Given the description of an element on the screen output the (x, y) to click on. 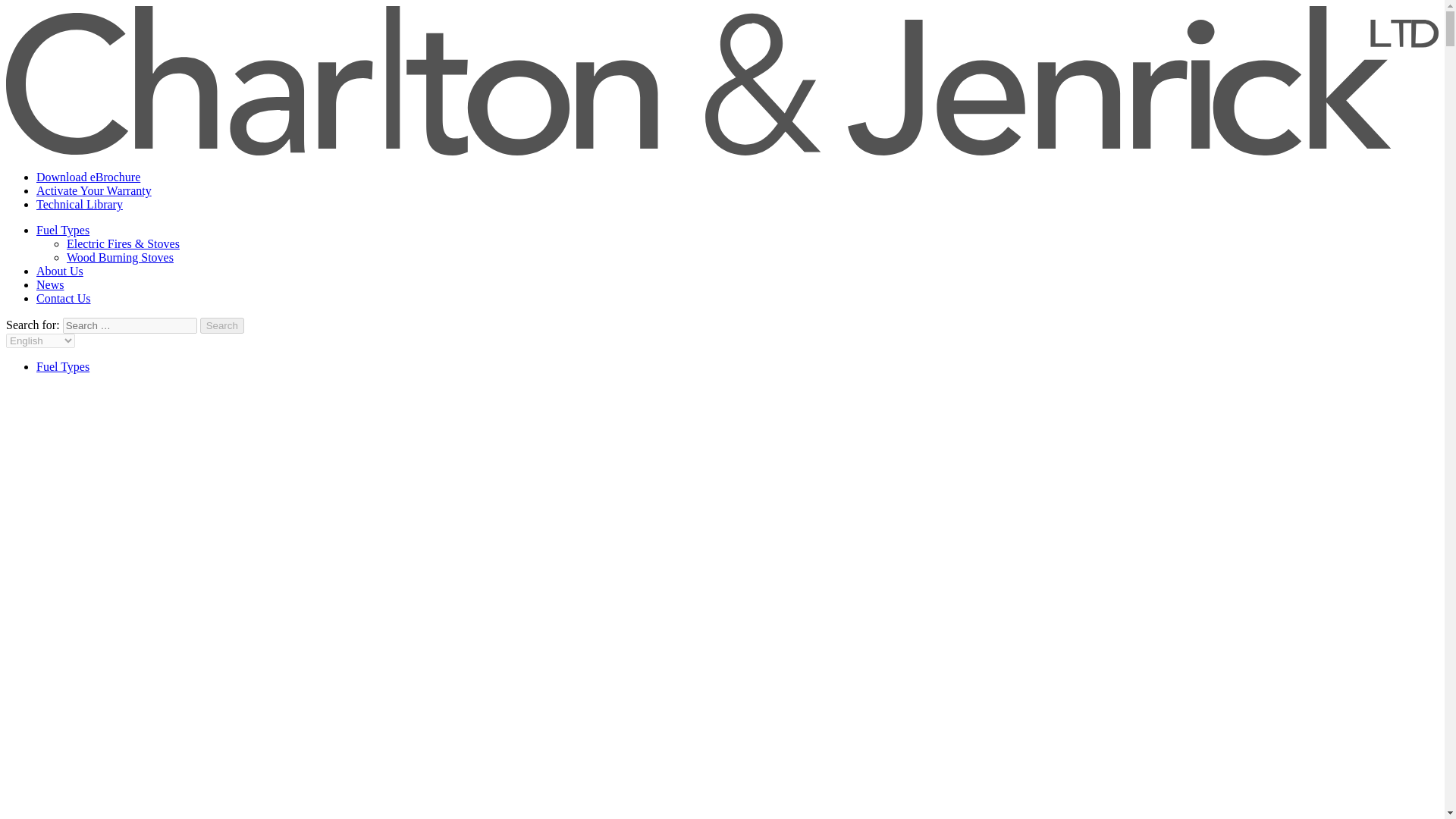
Search (222, 325)
Download eBrochure (87, 176)
Search (222, 325)
Contact Us (63, 297)
Technical Library (79, 204)
About Us (59, 270)
Activate Your Warranty (93, 190)
Fuel Types (62, 366)
Wood Burning Stoves (119, 256)
Fuel Types (62, 229)
News (50, 284)
Search (222, 325)
